Given the description of an element on the screen output the (x, y) to click on. 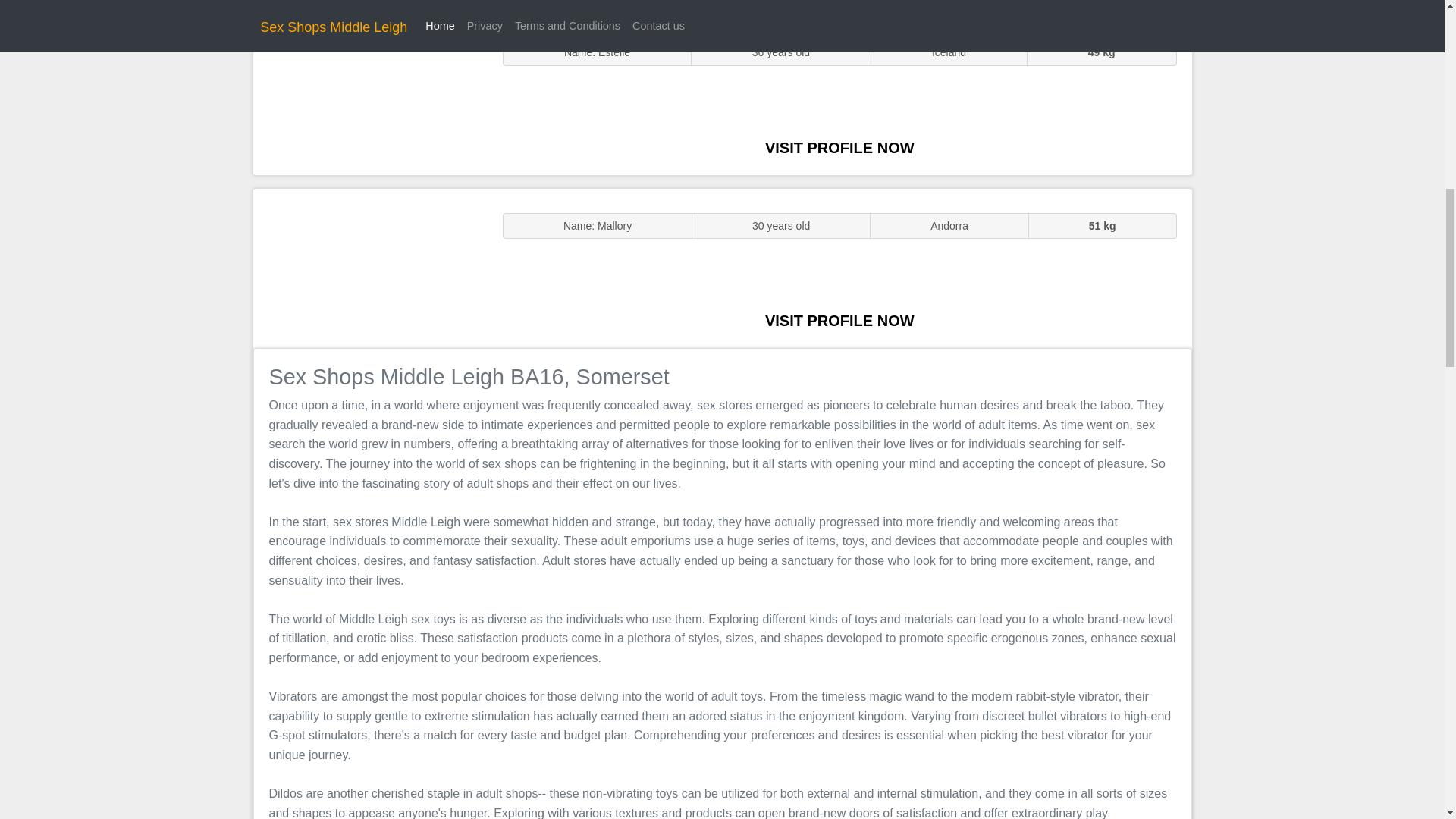
VISIT PROFILE NOW (839, 147)
Sluts (370, 94)
VISIT PROFILE NOW (839, 320)
Massage (370, 267)
